Given the description of an element on the screen output the (x, y) to click on. 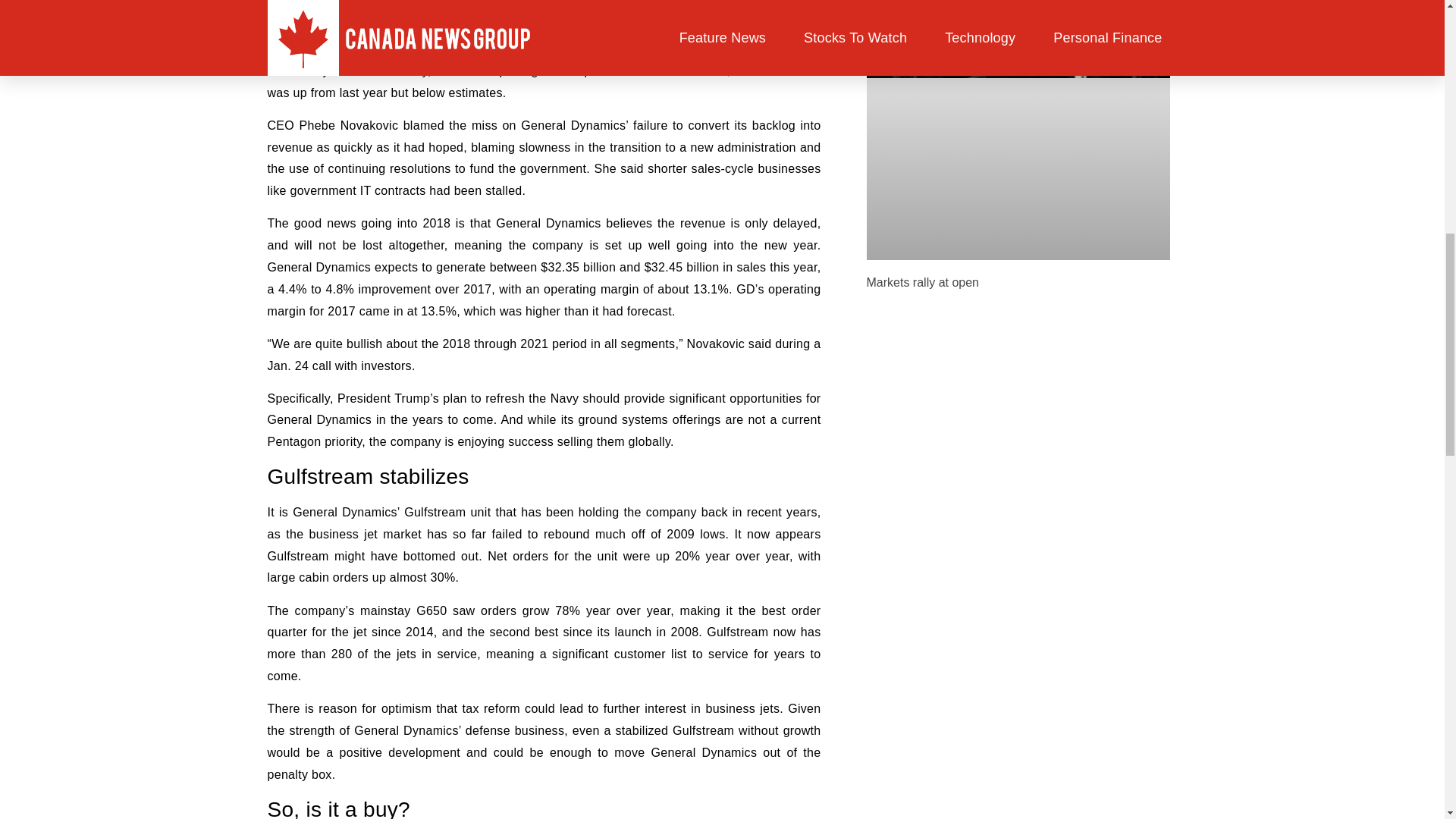
Markets rally at open (922, 282)
